Given the description of an element on the screen output the (x, y) to click on. 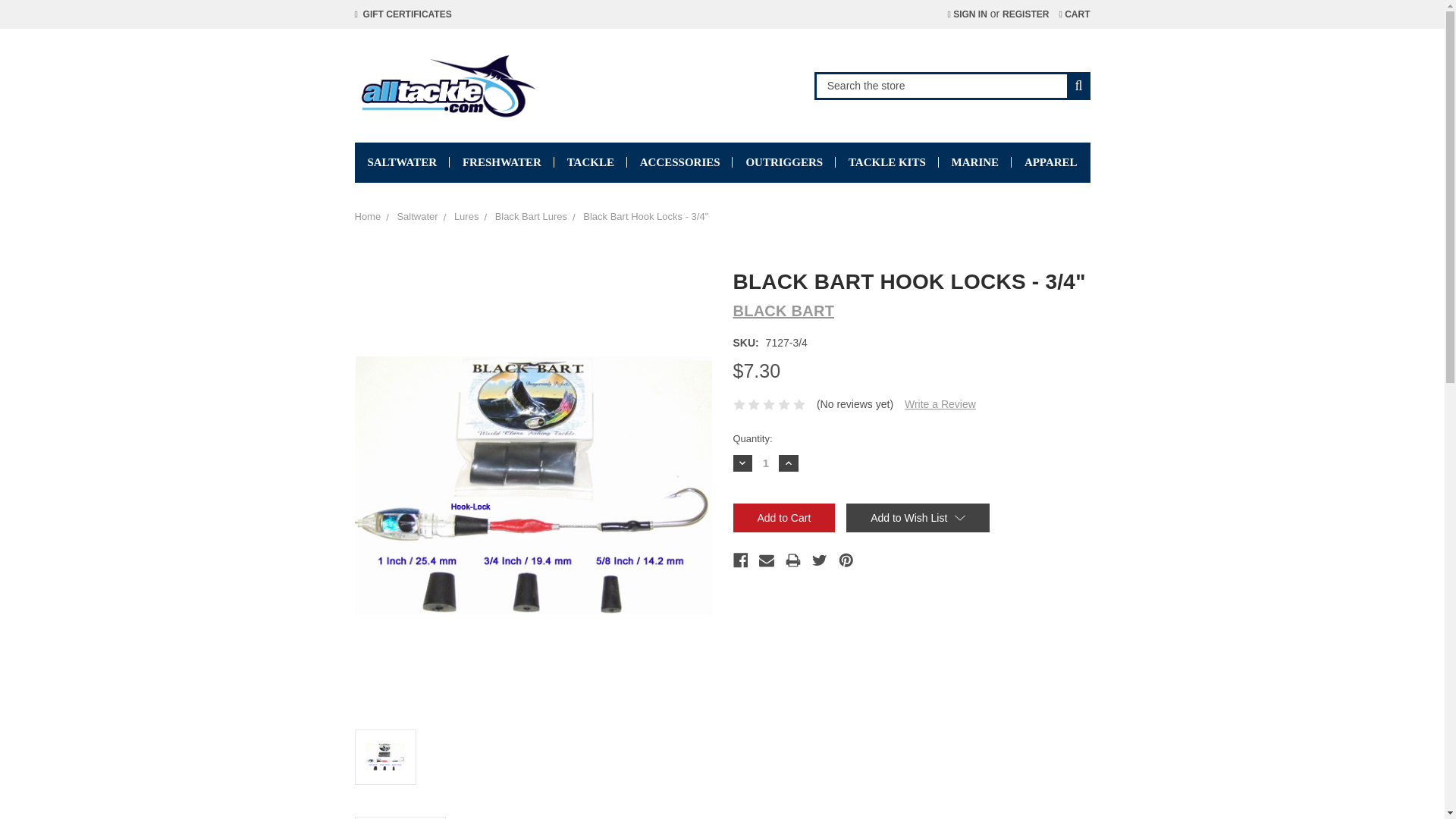
Add to Cart (783, 517)
Black Bart Hook Locks (533, 485)
CART (1074, 14)
  GIFT CERTIFICATES (403, 14)
SIGN IN (966, 14)
alltackle.com (447, 85)
REGISTER (1025, 14)
SALTWATER (401, 162)
1 (765, 462)
